Given the description of an element on the screen output the (x, y) to click on. 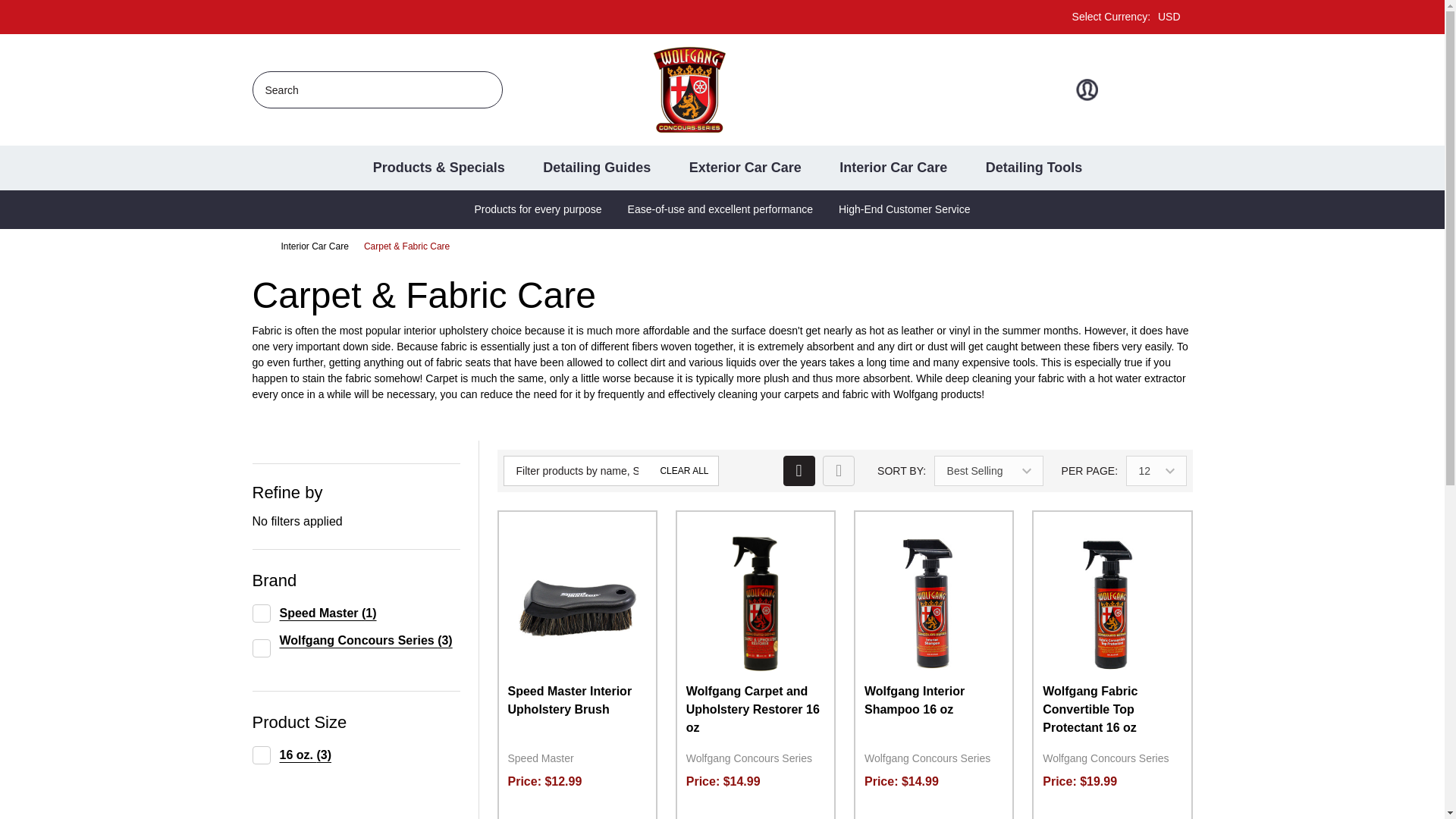
Detailing Guides (585, 167)
Interior Car Care (314, 246)
Gift Certificates (1134, 89)
Cart (1131, 17)
4 (1182, 89)
Home (480, 88)
Sign in (257, 245)
